Given the description of an element on the screen output the (x, y) to click on. 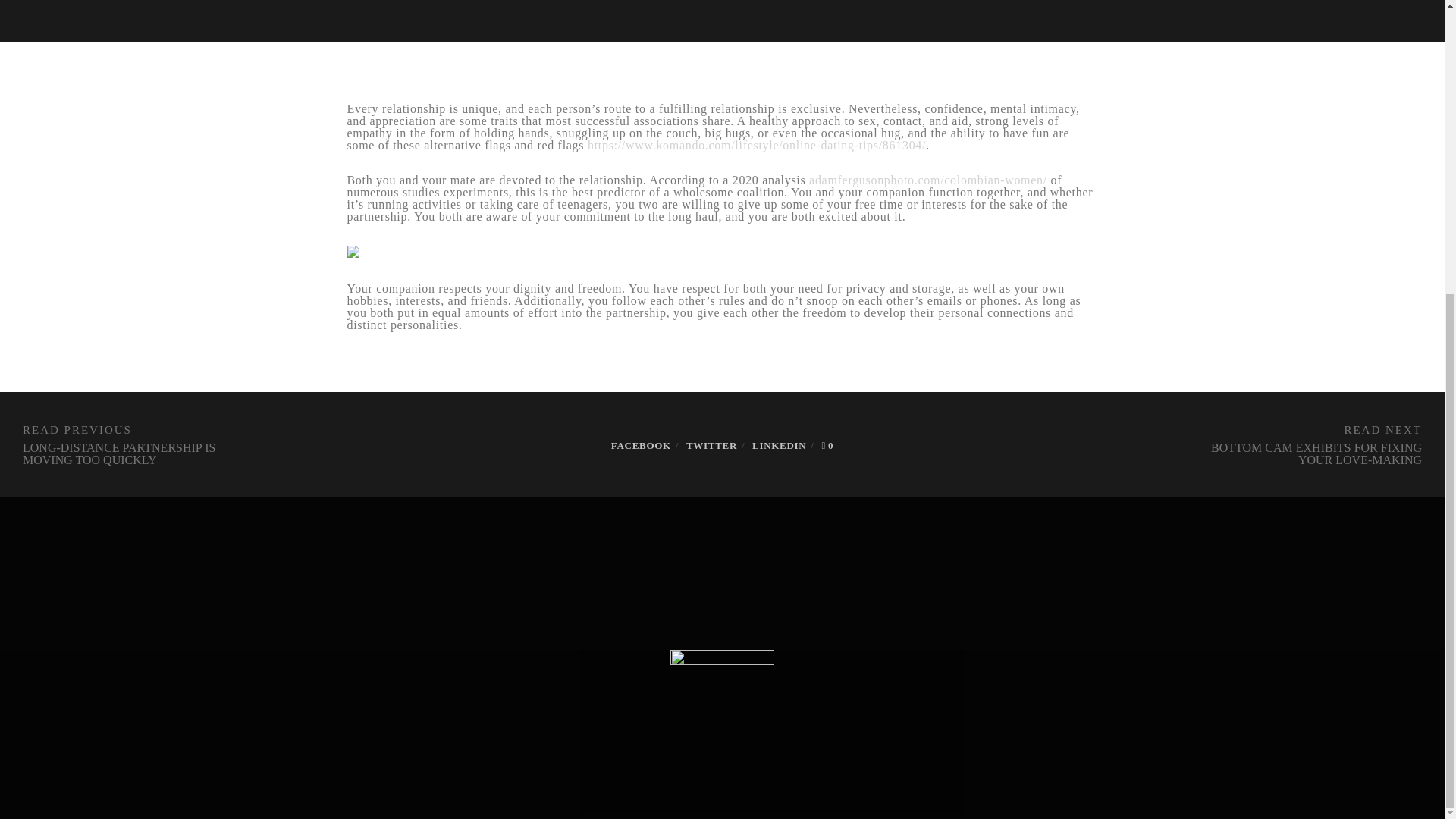
0 (826, 445)
A Good Partnership Signs (779, 445)
LINKEDIN (779, 445)
TWITTER (710, 445)
A Good Partnership Signs (710, 445)
FACEBOOK (641, 445)
A Good Partnership Signs (641, 445)
